Given the description of an element on the screen output the (x, y) to click on. 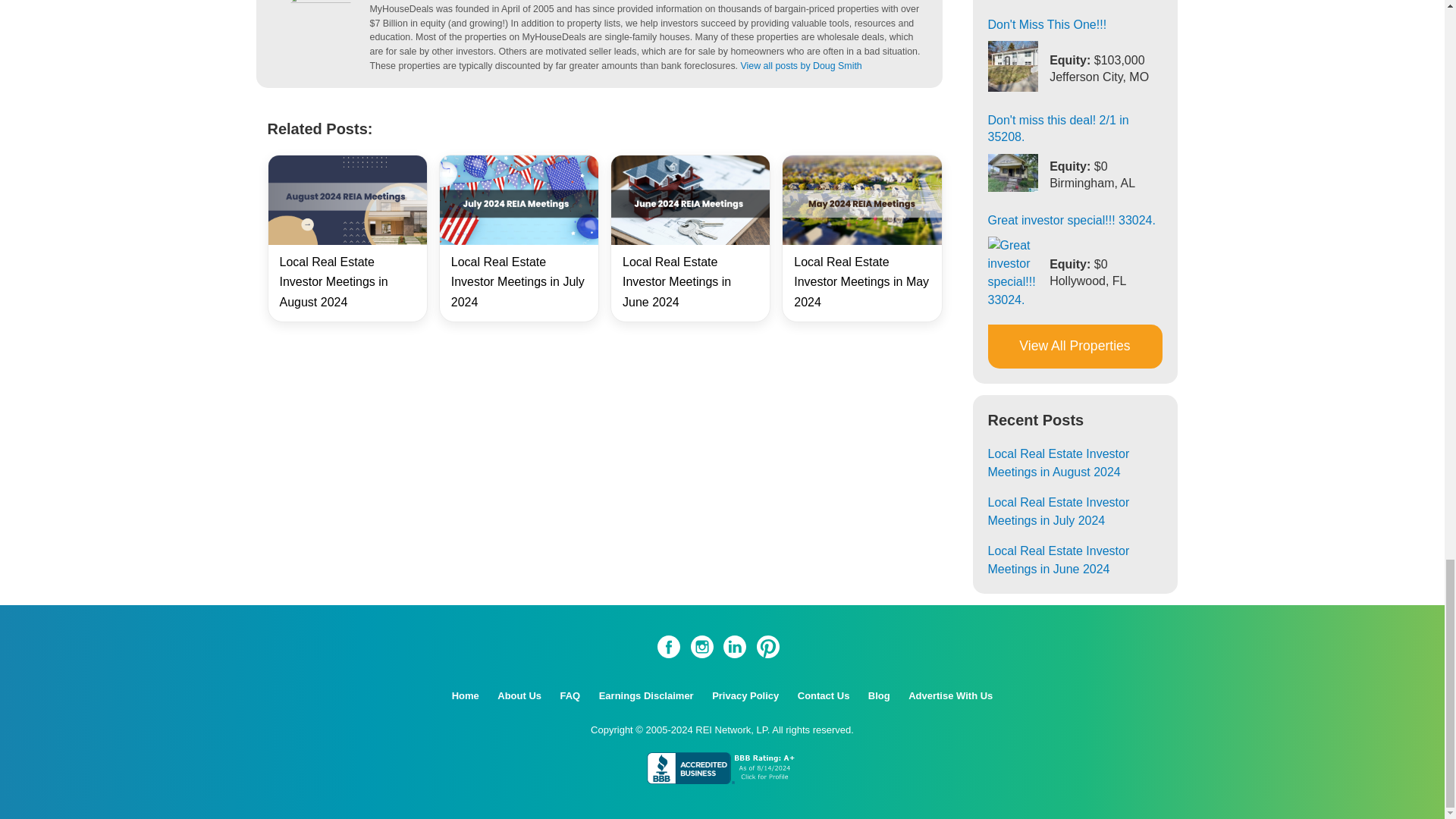
Local Real Estate Investor Meetings in July 2024 (518, 281)
View all posts by Doug Smith (801, 65)
Local Real Estate Investor Meetings in August 2024 (333, 281)
